Given the description of an element on the screen output the (x, y) to click on. 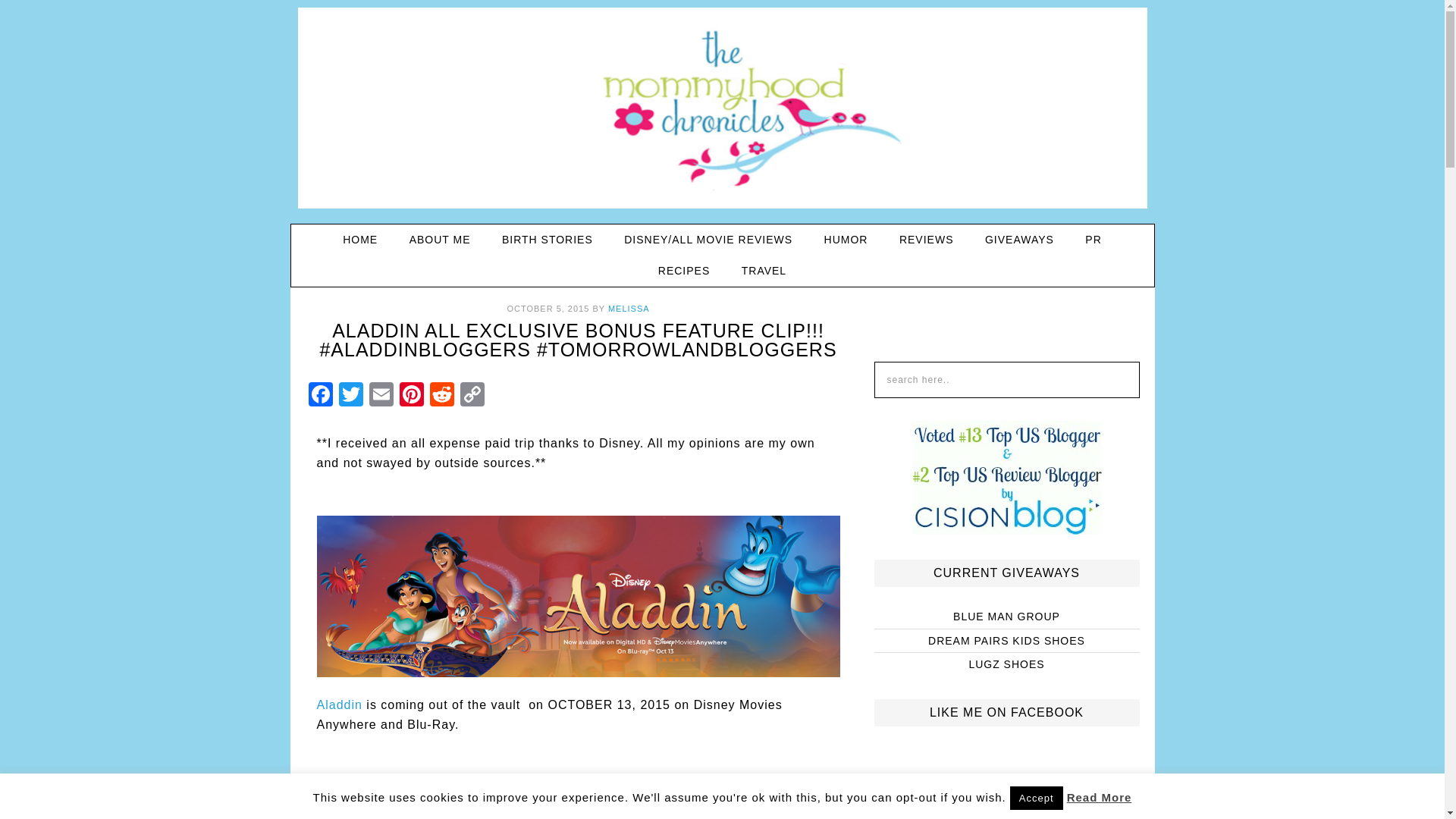
Pinterest (411, 396)
Reddit (441, 396)
MELISSA (628, 307)
RECIPES (684, 270)
GIVEAWAYS (1019, 239)
HUMOR (846, 239)
ABOUT ME (440, 239)
BIRTH STORIES (547, 239)
REVIEWS (926, 239)
Email (380, 396)
Copy Link (471, 396)
Aladdin (339, 704)
Twitter (349, 396)
